Given the description of an element on the screen output the (x, y) to click on. 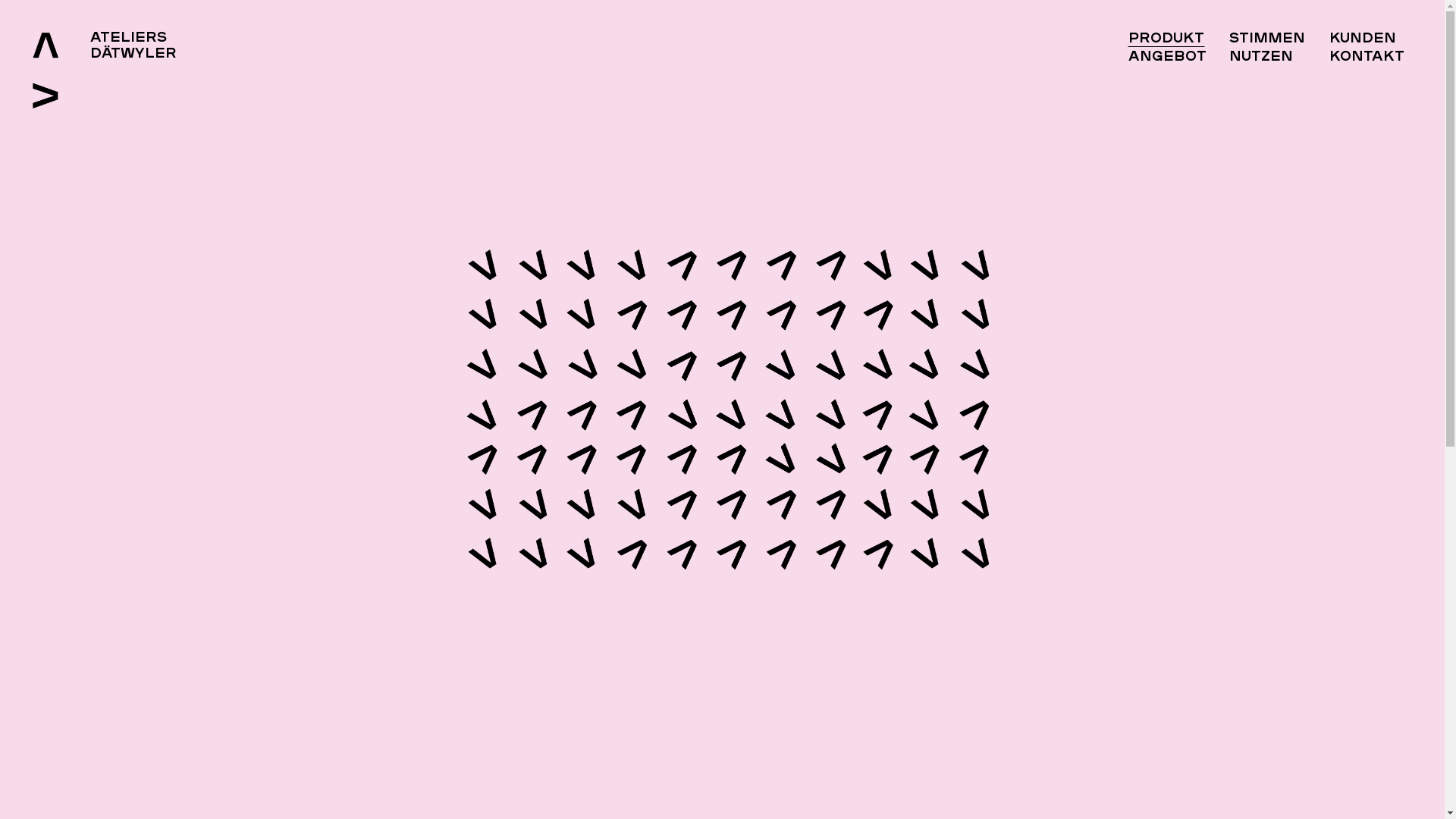
Nutzen Element type: text (1260, 56)
Muster 1 Element type: hover (728, 409)
Stimmen Element type: text (1266, 38)
Kunden Element type: text (1362, 38)
Angebot Element type: text (1167, 56)
Produkt Element type: text (1165, 38)
Kontakt Element type: text (1366, 56)
